Given the description of an element on the screen output the (x, y) to click on. 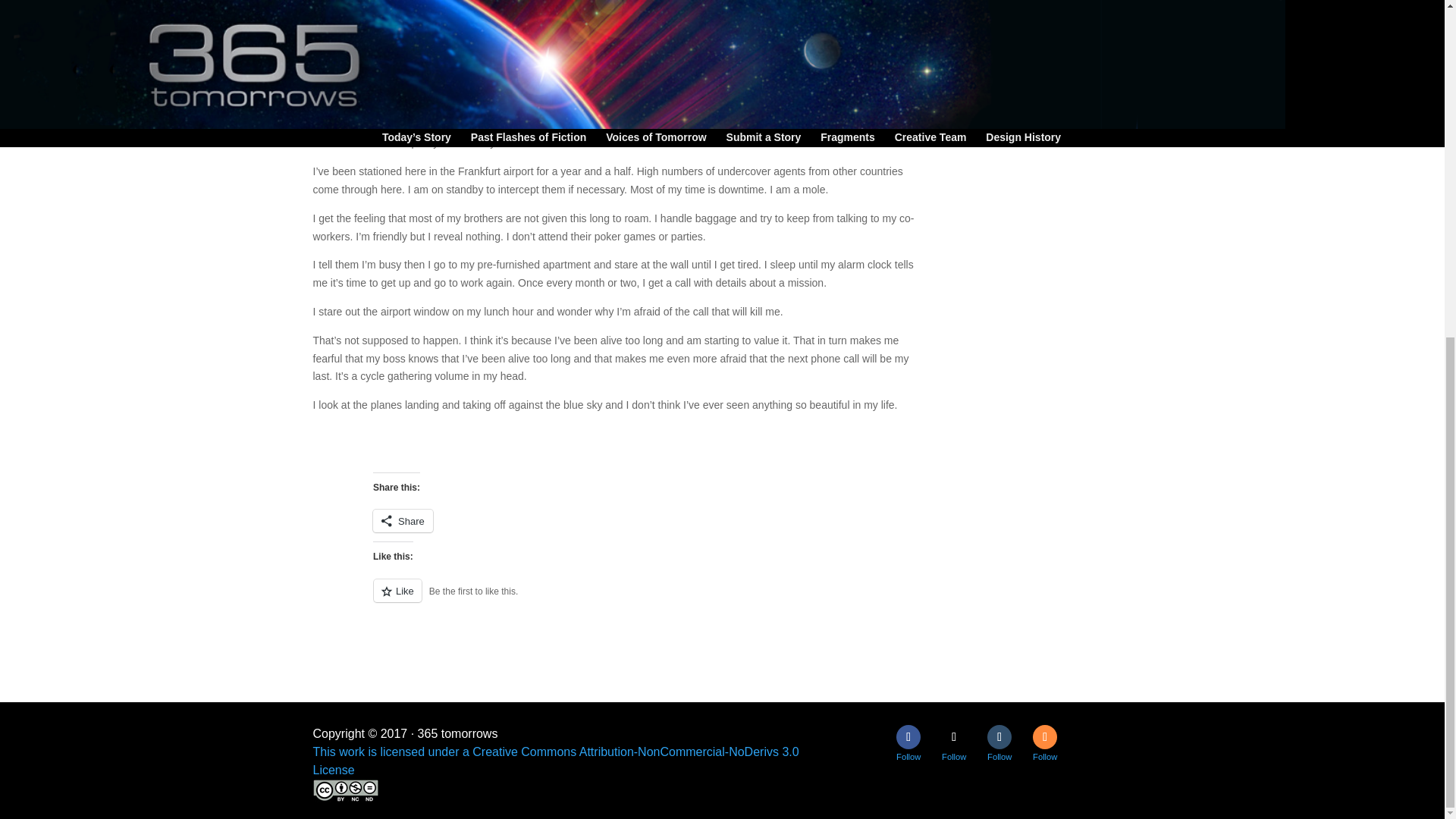
Follow on Facebook (908, 736)
Follow (1044, 736)
Share (402, 520)
Follow (999, 736)
Like or Reblog (673, 598)
Follow (954, 736)
Follow on Twitter (954, 736)
Follow on tumblr (999, 736)
Follow (908, 736)
